Given the description of an element on the screen output the (x, y) to click on. 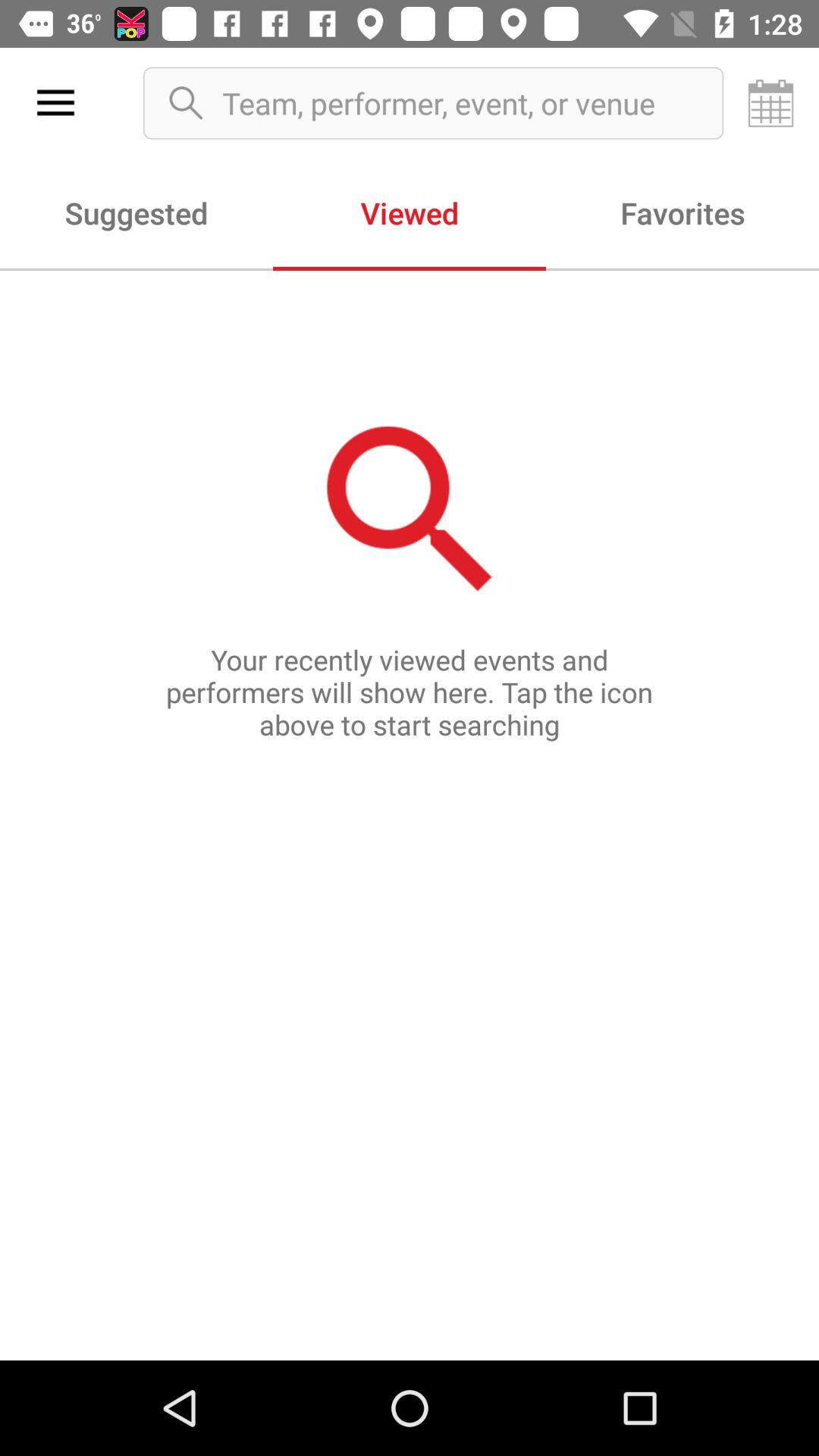
jump until the your recently viewed icon (409, 815)
